Given the description of an element on the screen output the (x, y) to click on. 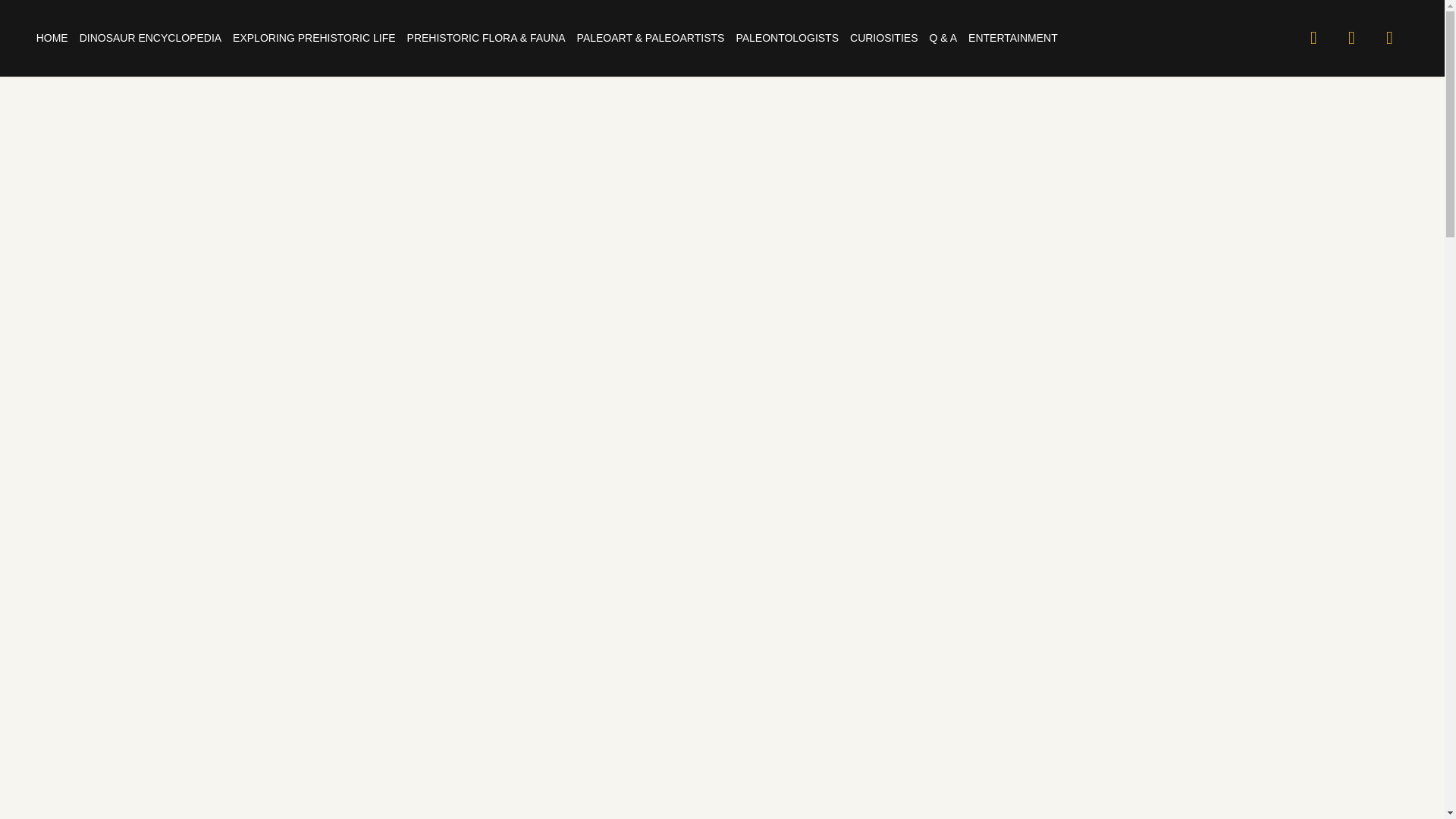
CURIOSITIES (883, 38)
DINOSAUR ENCYCLOPEDIA (150, 38)
ENTERTAINMENT (1013, 38)
PALEONTOLOGISTS (786, 38)
EXPLORING PREHISTORIC LIFE (313, 38)
